Given the description of an element on the screen output the (x, y) to click on. 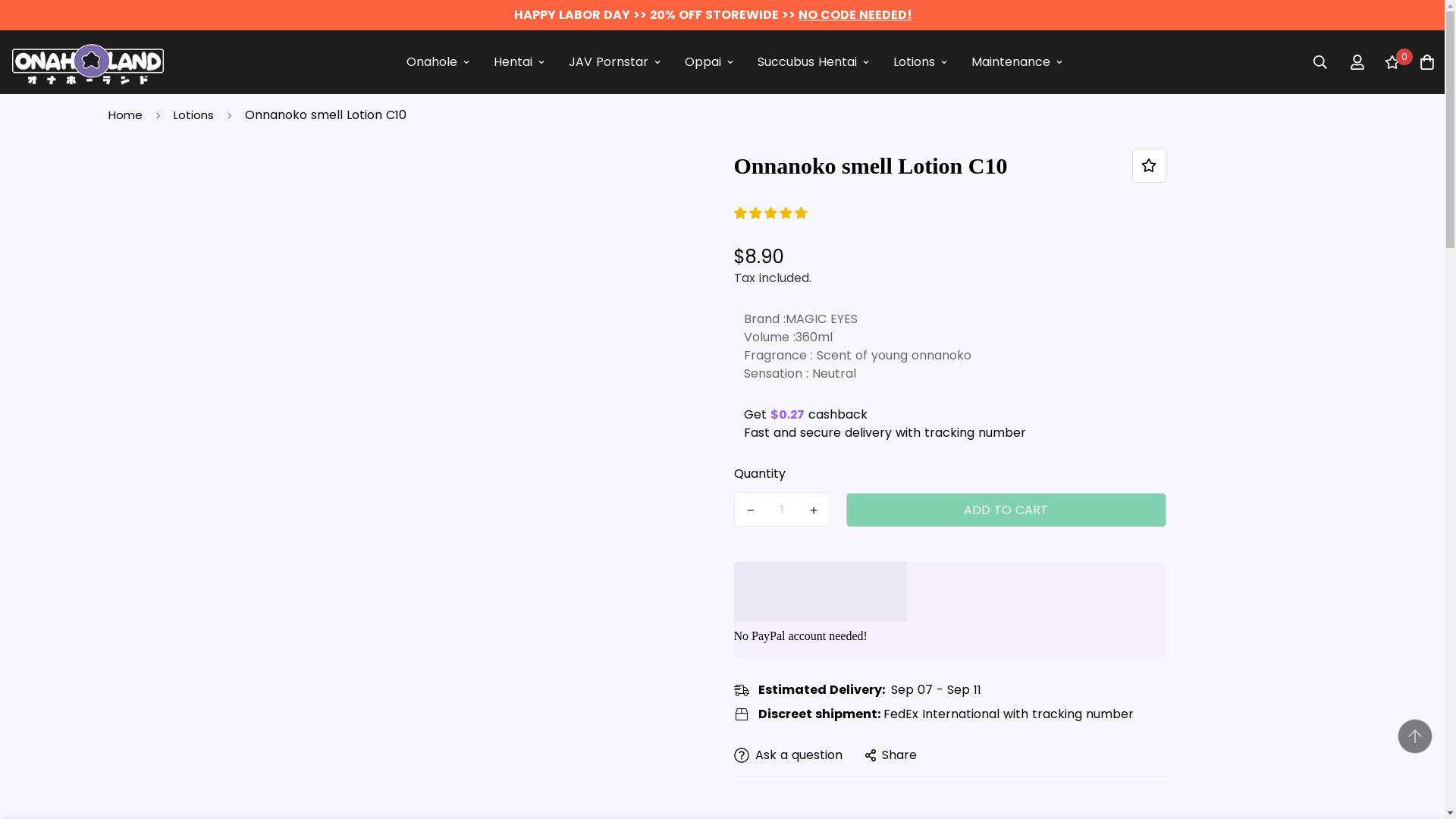
Hentai (518, 61)
Onaholand (87, 62)
1 (782, 509)
Onahole (437, 61)
Back to the home page (125, 115)
Oppai (708, 61)
JAV Pornstar (614, 61)
